Given the description of an element on the screen output the (x, y) to click on. 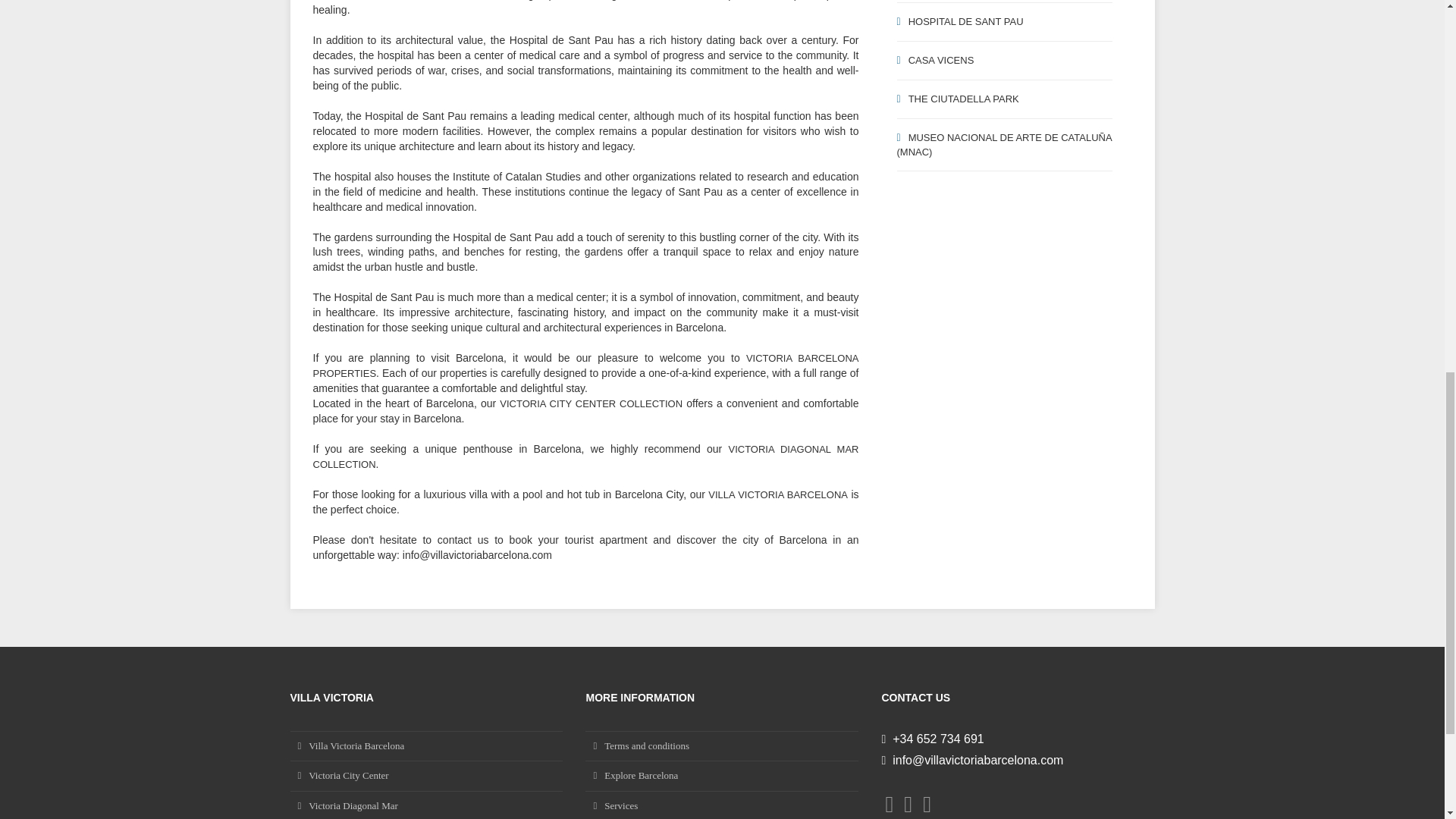
VILLA VICTORIA BARCELONA (777, 494)
THE CIUTADELLA PARK (1004, 99)
VICTORIA CITY CENTER COLLECTION (590, 403)
Villa Victoria Barcelona (425, 746)
HOSPITAL DE SANT PAU (1004, 22)
LA BARCELONETA (1004, 1)
VICTORIA DIAGONAL MAR COLLECTION (586, 456)
Victoria City Center (425, 775)
VICTORIA BARCELONA PROPERTIES (586, 365)
Terms and conditions (722, 746)
Victoria Diagonal Mar (425, 805)
CASA VICENS (1004, 60)
